Given the description of an element on the screen output the (x, y) to click on. 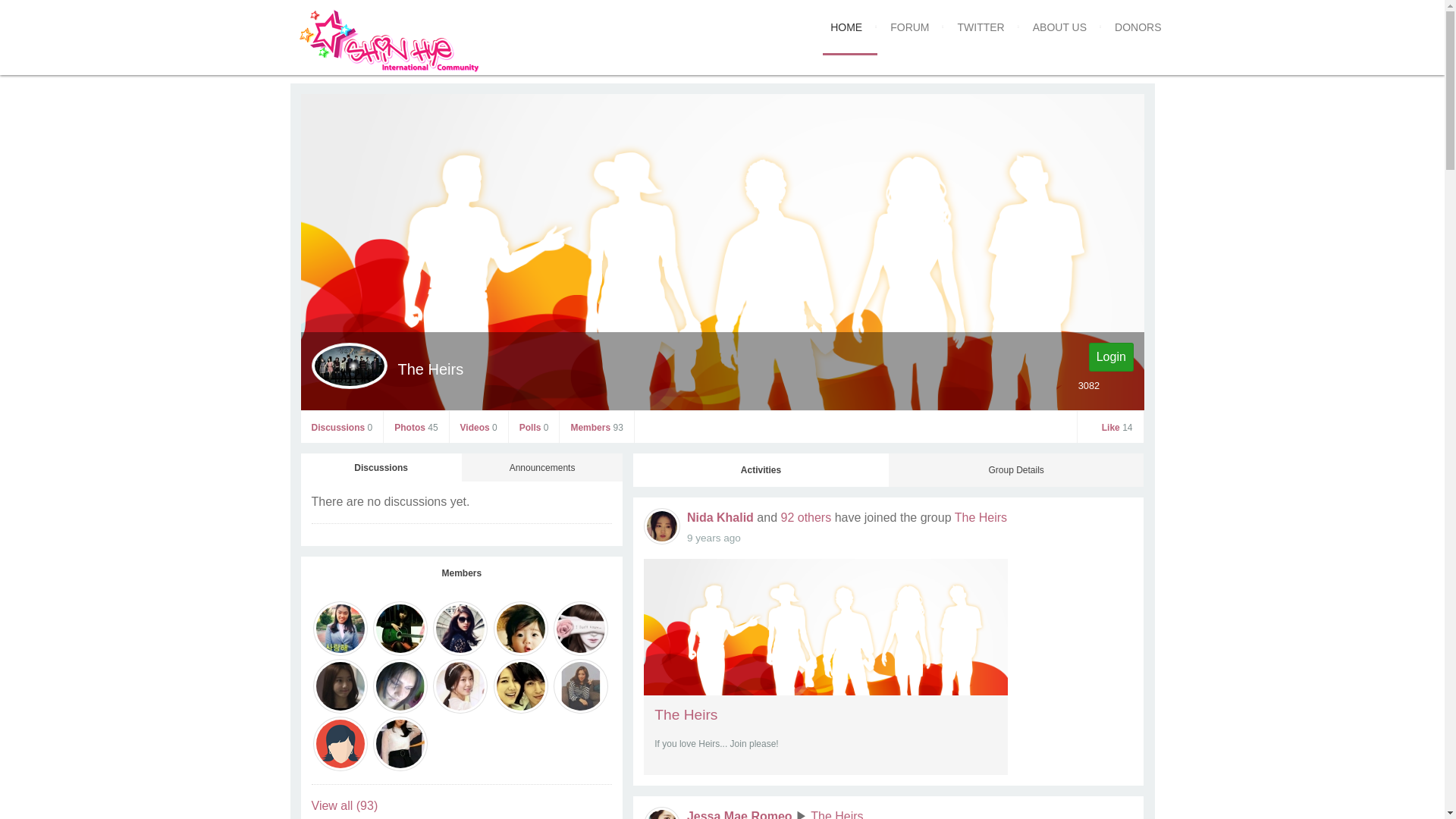
Login (1110, 357)
3082 views (1081, 385)
Videos 0 (478, 427)
Like 14 (1109, 427)
Members (461, 572)
Discussions (380, 467)
Polls 0 (533, 427)
Anna Morales (400, 686)
Angela Brandon (580, 628)
Almontel (459, 628)
Discussions 0 (341, 427)
Photos 45 (416, 427)
HOME (845, 27)
ABOUT US (1059, 27)
3082 (1081, 385)
